Given the description of an element on the screen output the (x, y) to click on. 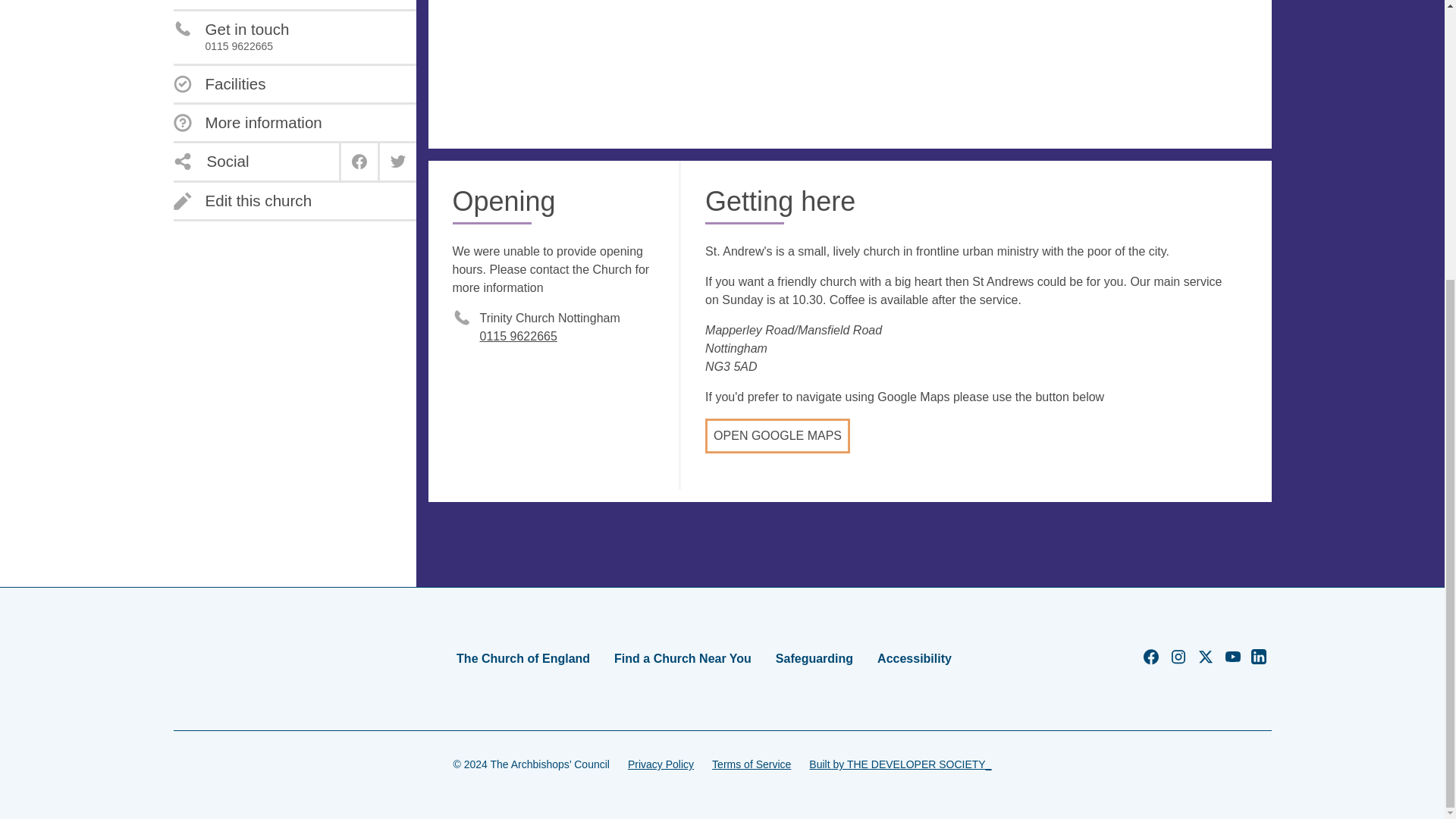
ACNY home (221, 658)
Facilities (230, 37)
Edit this church (218, 84)
More information (242, 200)
0115 9622665 (247, 122)
